Given the description of an element on the screen output the (x, y) to click on. 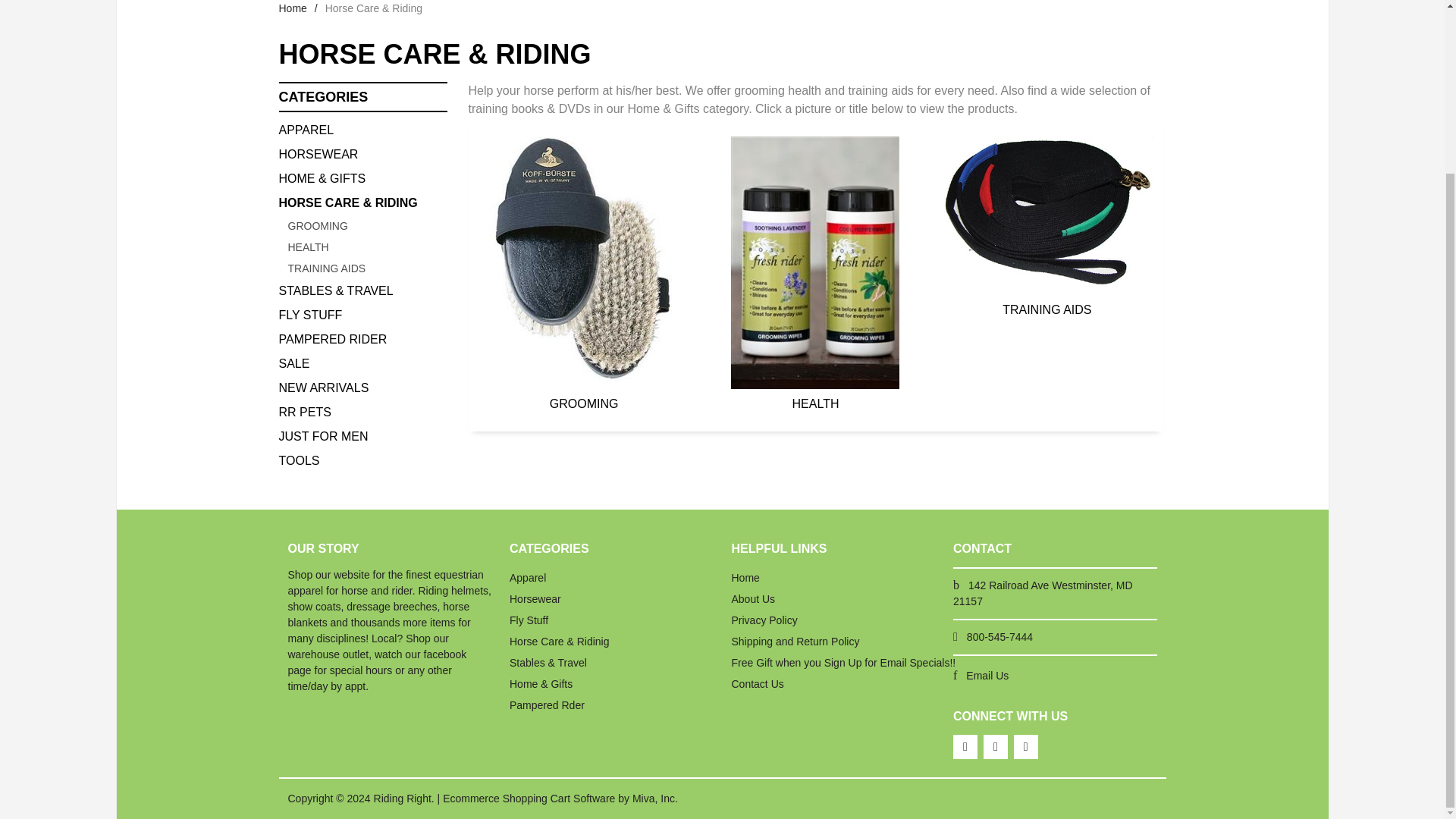
Training Aids (367, 268)
Health (367, 246)
Training Aids (1046, 215)
Home (293, 8)
Apparel (362, 129)
Horsewear (362, 154)
Training Aids (1046, 227)
Fly Stuff (362, 315)
Grooming (367, 225)
